Given the description of an element on the screen output the (x, y) to click on. 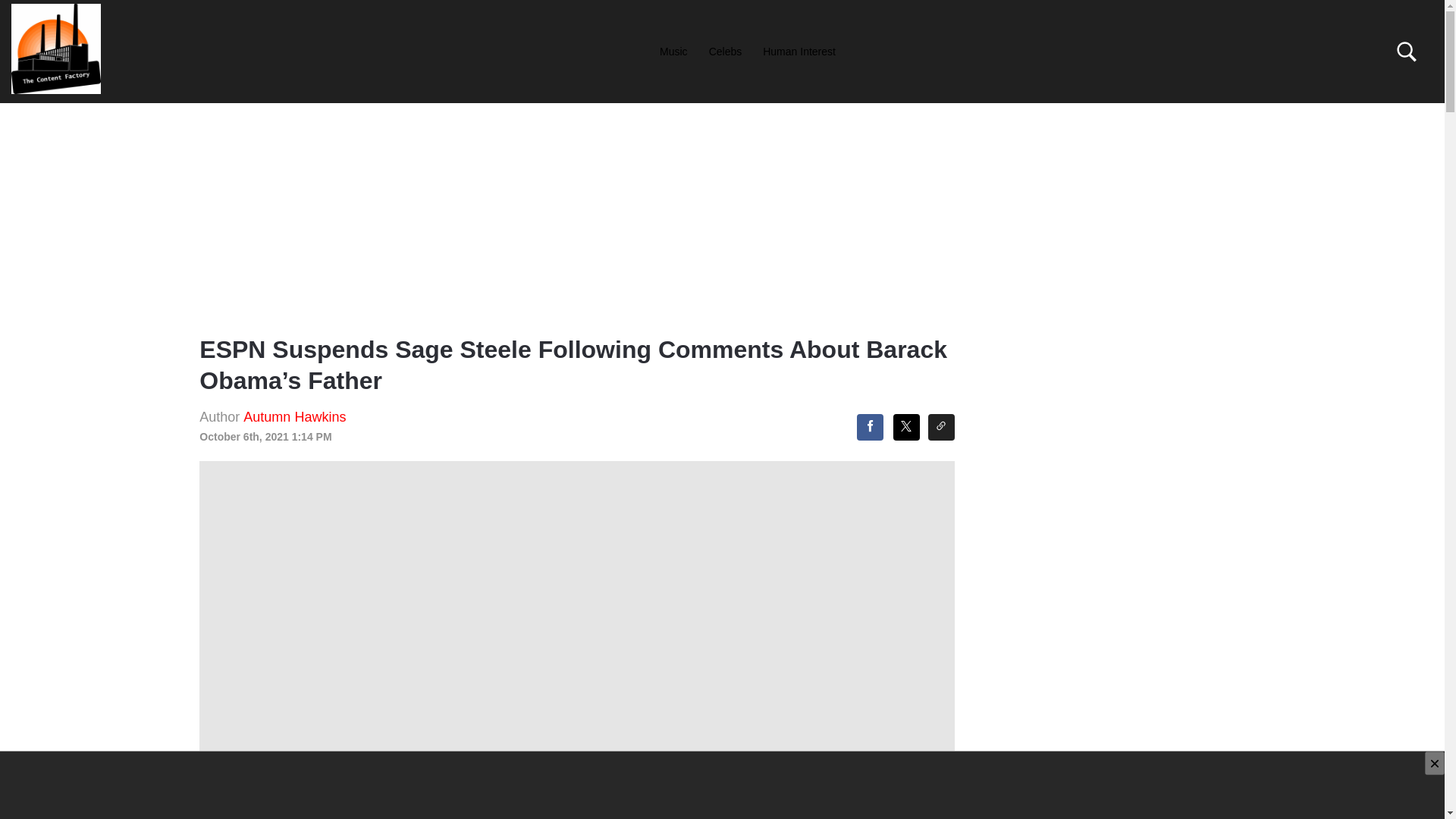
Music (673, 51)
Celebs (725, 51)
Close AdCheckmark indicating ad close (1434, 763)
Human Interest (798, 51)
Autumn Hawkins (294, 417)
Autumn Hawkins (294, 417)
